Given the description of an element on the screen output the (x, y) to click on. 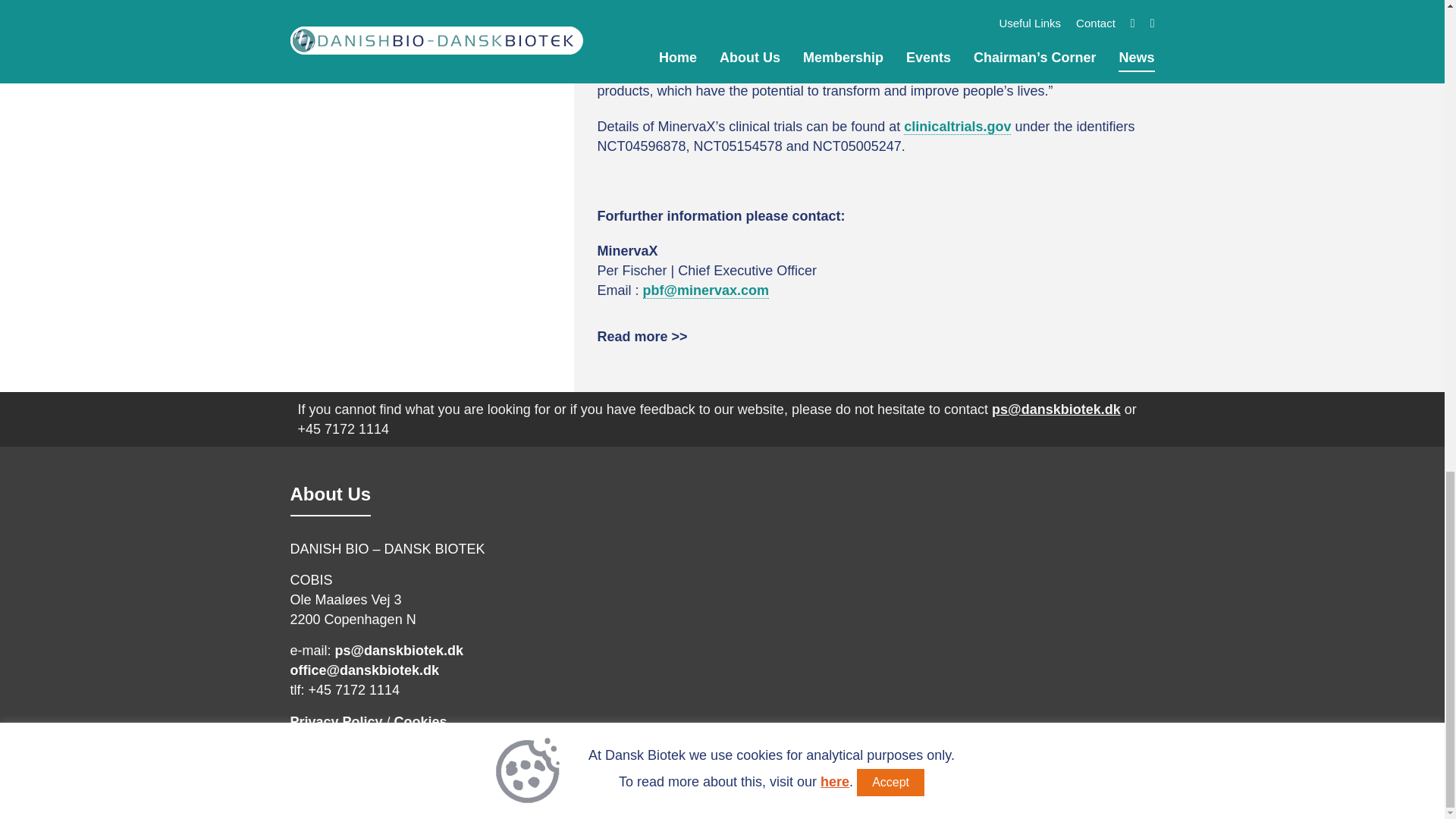
Professional Wordpress Developer (1098, 784)
created by: Mastafu Design (1098, 784)
Privacy Policy (335, 720)
Cookies (420, 720)
clinicaltrials.gov (957, 126)
